Given the description of an element on the screen output the (x, y) to click on. 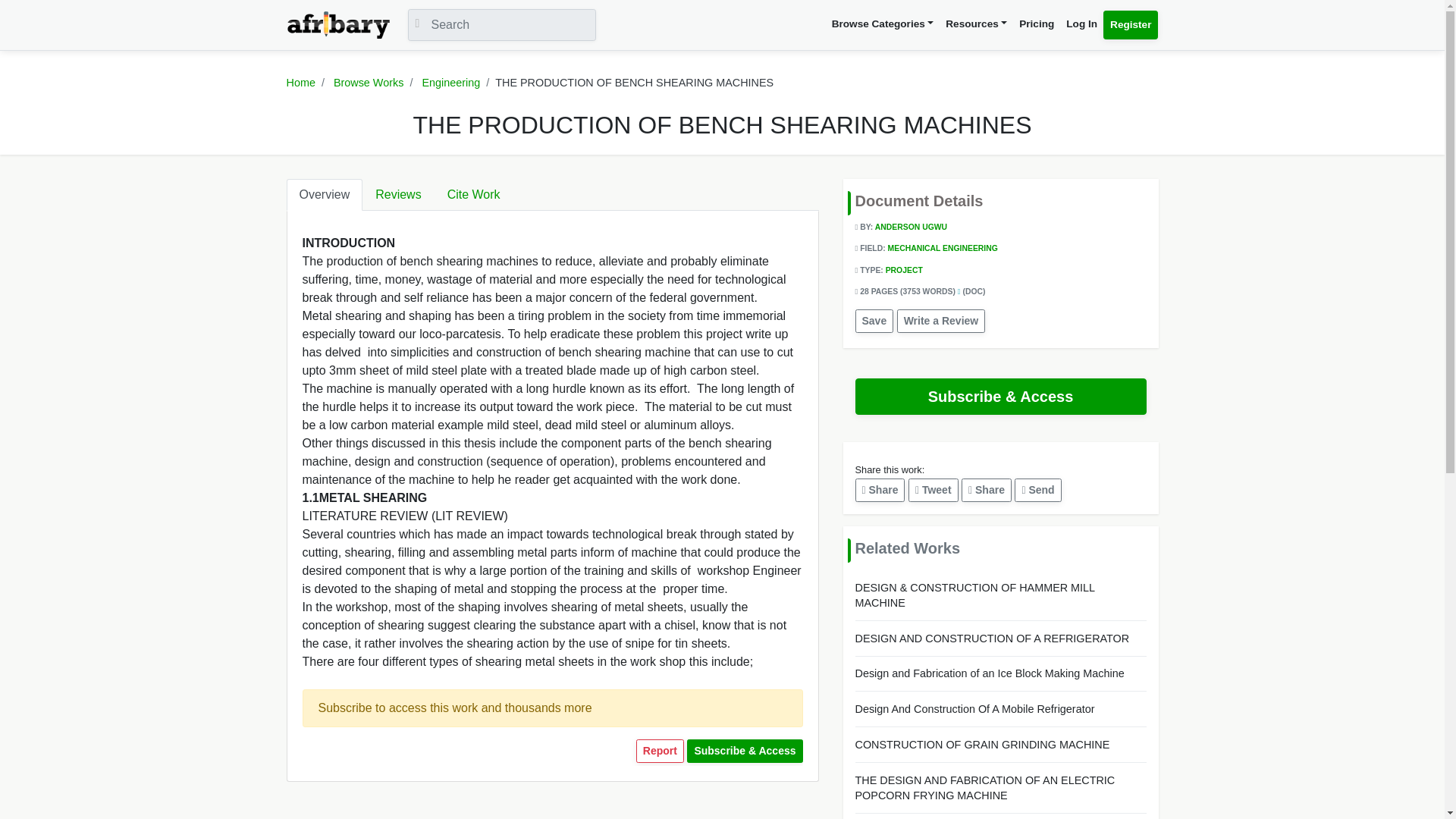
Share on Whatsapp (1037, 490)
Reviews (397, 194)
Share on Facebook (880, 490)
DESIGN AND CONSTRUCTION OF A REFRIGERATOR (1001, 638)
Save (874, 320)
Share on Twitter (933, 490)
Send (1037, 490)
Log In (1081, 23)
Tweet (933, 490)
MECHANICAL ENGINEERING (942, 248)
Report (660, 750)
PROJECT (904, 270)
Cite Work (473, 194)
Share (985, 490)
Share (880, 490)
